Given the description of an element on the screen output the (x, y) to click on. 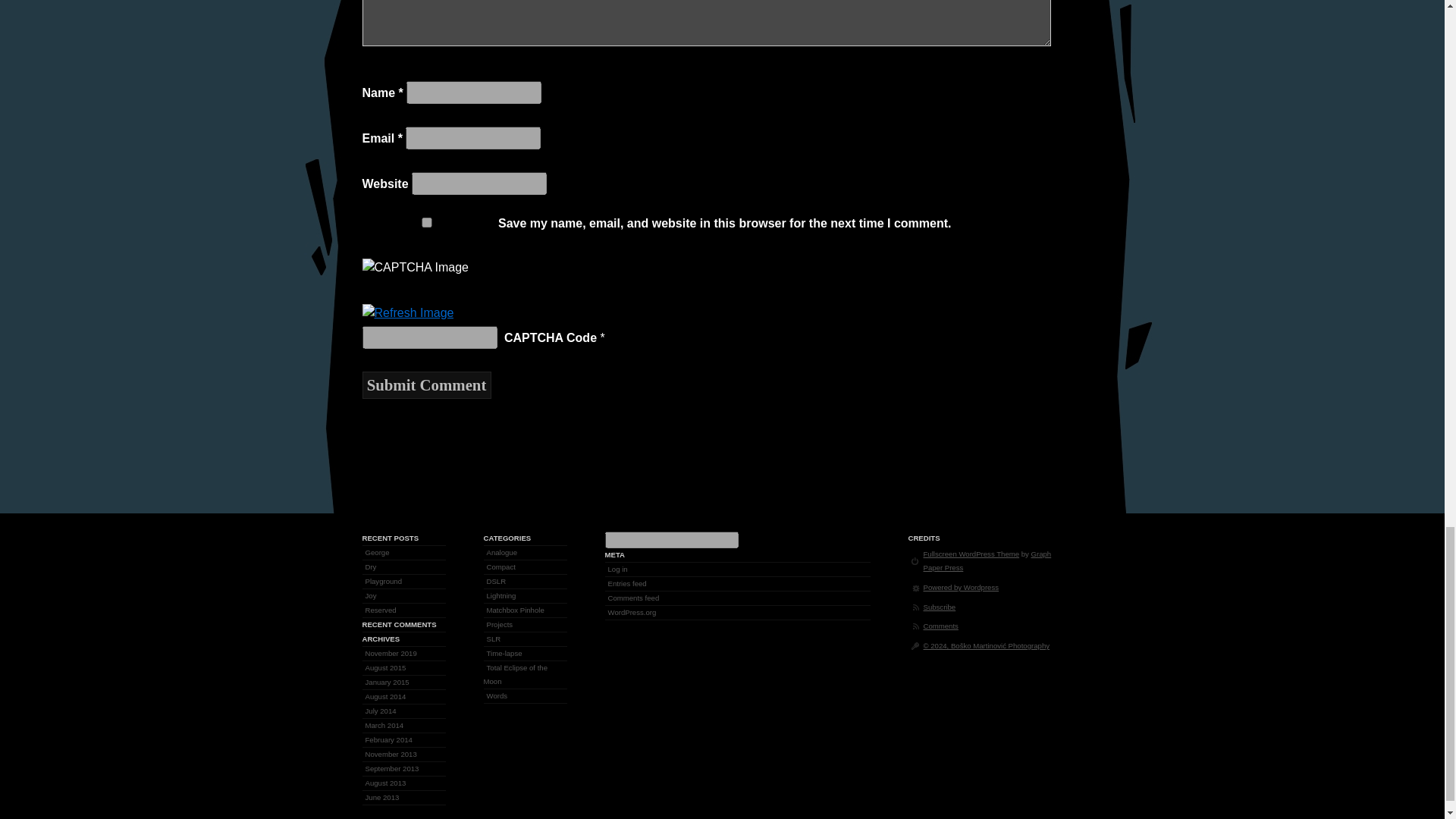
Dry (371, 566)
January 2015 (387, 681)
August 2014 (385, 696)
November 2013 (391, 753)
Submit Comment (427, 384)
February 2014 (388, 739)
Joy (371, 595)
August 2013 (385, 782)
Playground (384, 581)
Fullscreen WordPress theme (971, 553)
yes (427, 222)
Submit Comment (427, 384)
Home (986, 645)
November 2019 (391, 653)
